Given the description of an element on the screen output the (x, y) to click on. 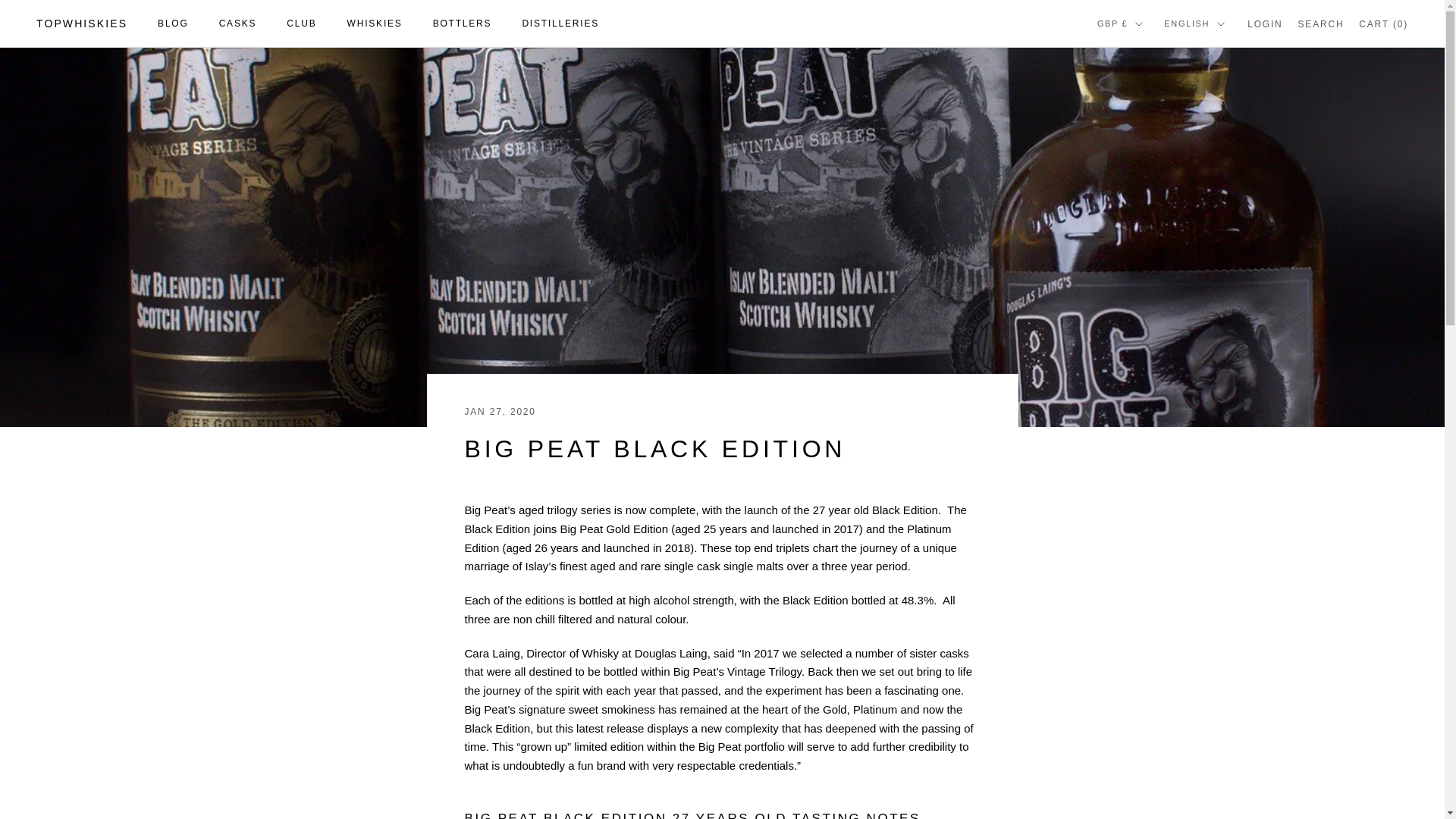
TOPWHISKIES (82, 24)
CASKS (238, 23)
CLUB (300, 23)
